Given the description of an element on the screen output the (x, y) to click on. 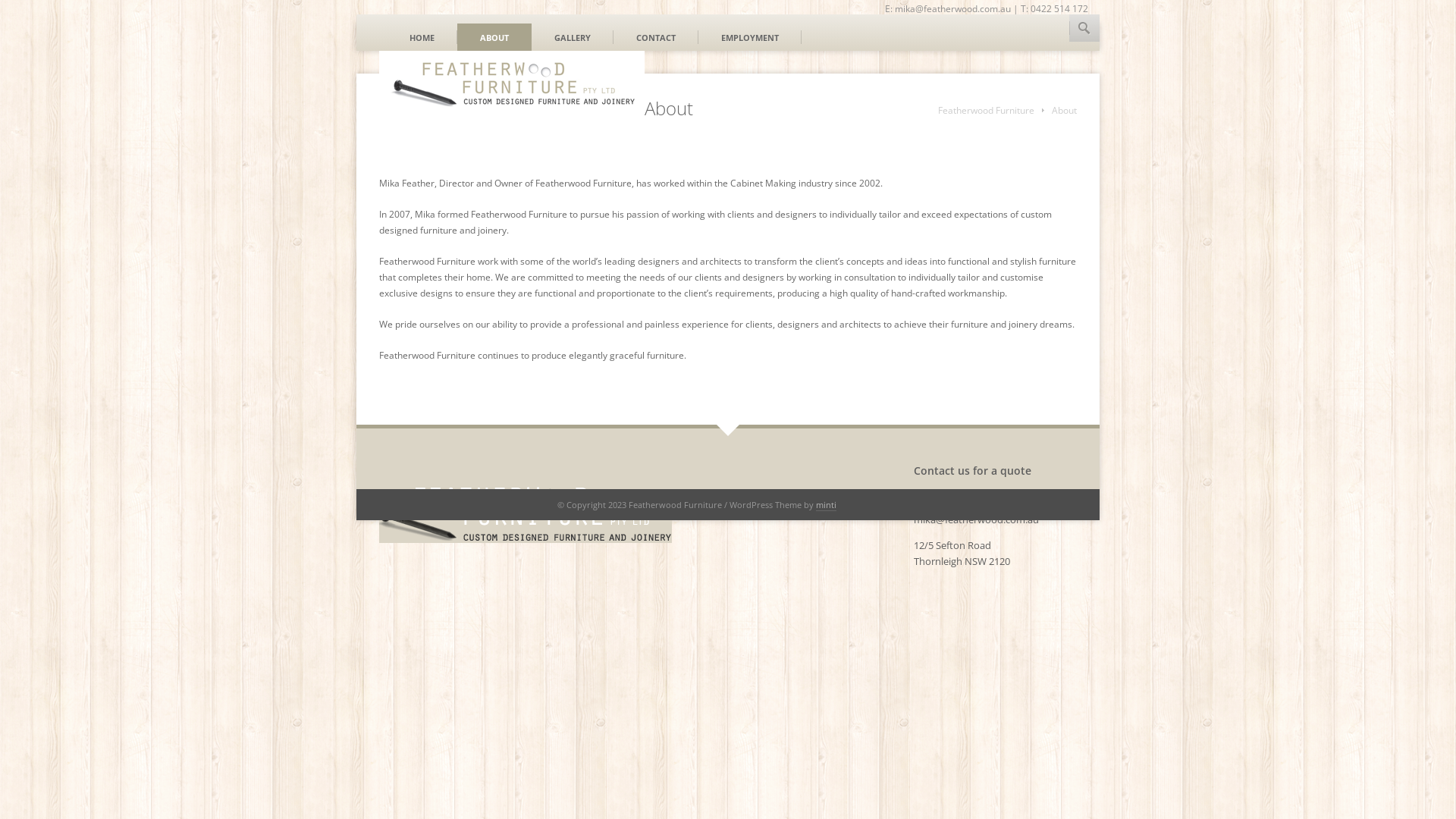
GALLERY Element type: text (572, 36)
CONTACT Element type: text (655, 36)
mika@featherwood.com.au Element type: text (975, 519)
HOME Element type: text (421, 36)
minti Element type: text (825, 504)
LINKEDIN Element type: text (1052, 32)
EMPLOYMENT Element type: text (749, 36)
Featherwood Furniture Element type: text (991, 109)
HOUZZ Element type: text (1077, 32)
ABOUT Element type: text (494, 36)
